Given the description of an element on the screen output the (x, y) to click on. 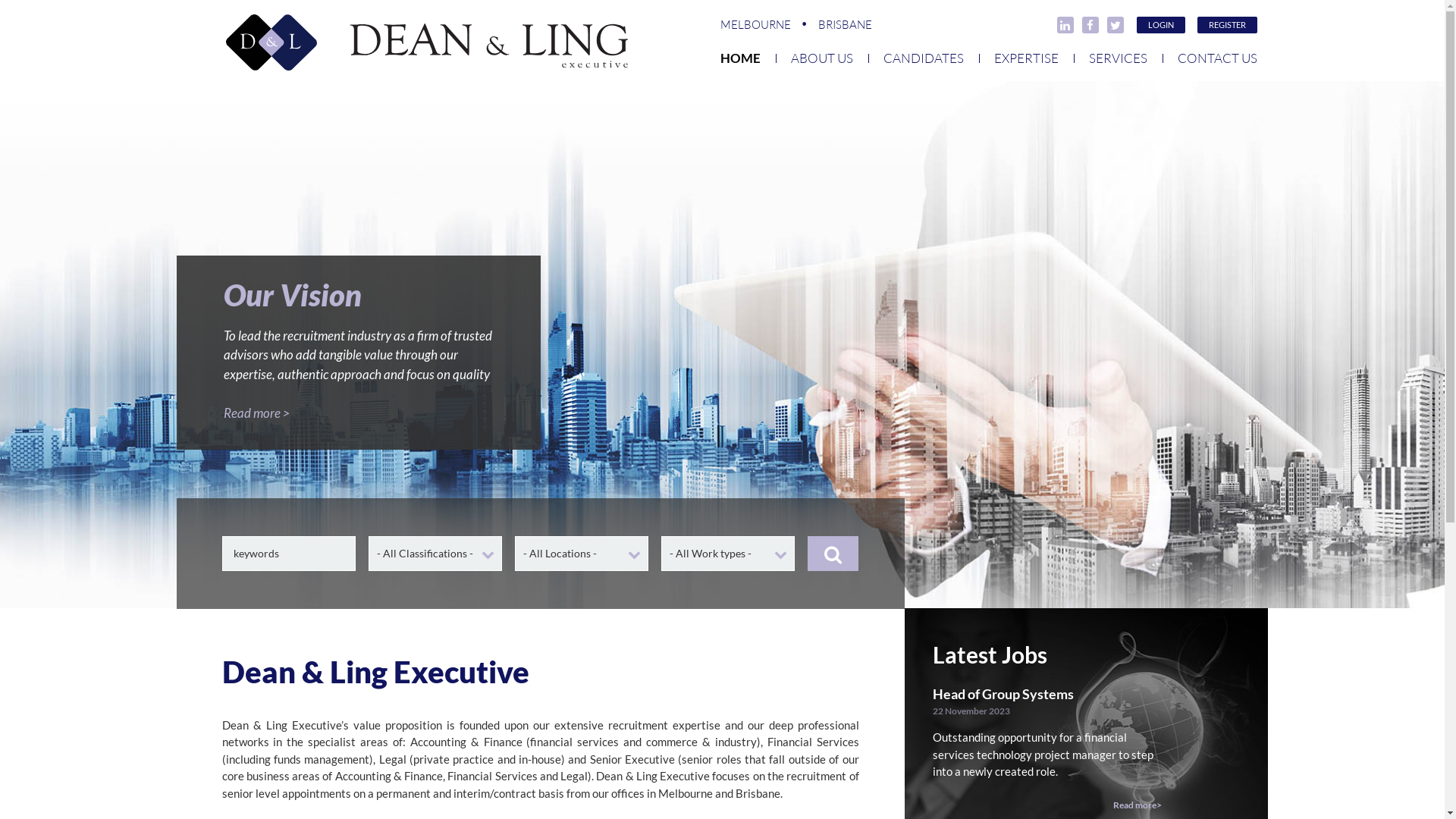
Twitter Element type: hover (1115, 25)
ABOUT US Element type: text (821, 58)
REGISTER Element type: text (1226, 24)
CONTACT US Element type: text (1208, 58)
SERVICES Element type: text (1117, 58)
Head of Group Systems Element type: text (1047, 693)
EXPERTISE Element type: text (1025, 58)
Read more > Element type: text (255, 412)
LOGIN Element type: text (1159, 24)
CANDIDATES Element type: text (922, 58)
Read more> Element type: text (1047, 805)
BRISBANE Element type: text (832, 24)
Facebook Element type: hover (1089, 25)
Dean & Ling Element type: text (426, 43)
LinkedIn Element type: hover (1065, 25)
HOME Element type: text (747, 58)
MELBOURNE Element type: text (755, 24)
